Given the description of an element on the screen output the (x, y) to click on. 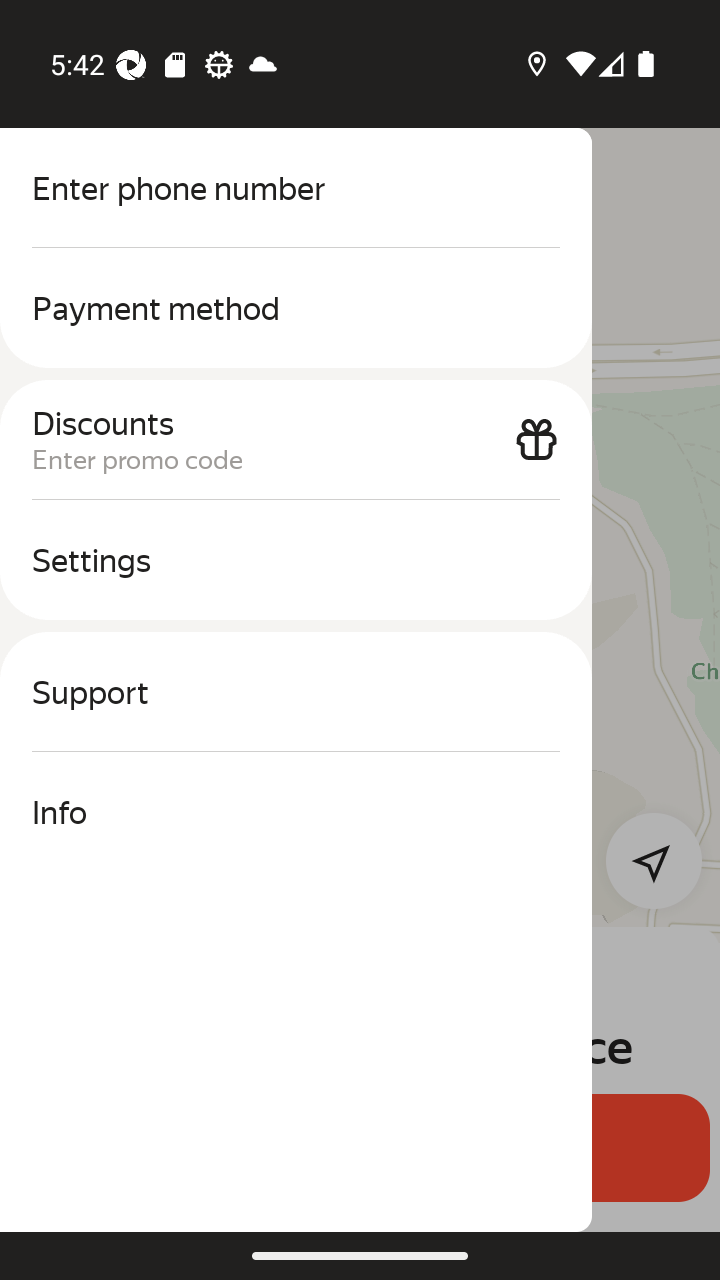
Enter phone number (295, 188)
Payment method (295, 308)
Settings (295, 559)
Support (295, 692)
Info (295, 811)
